Given the description of an element on the screen output the (x, y) to click on. 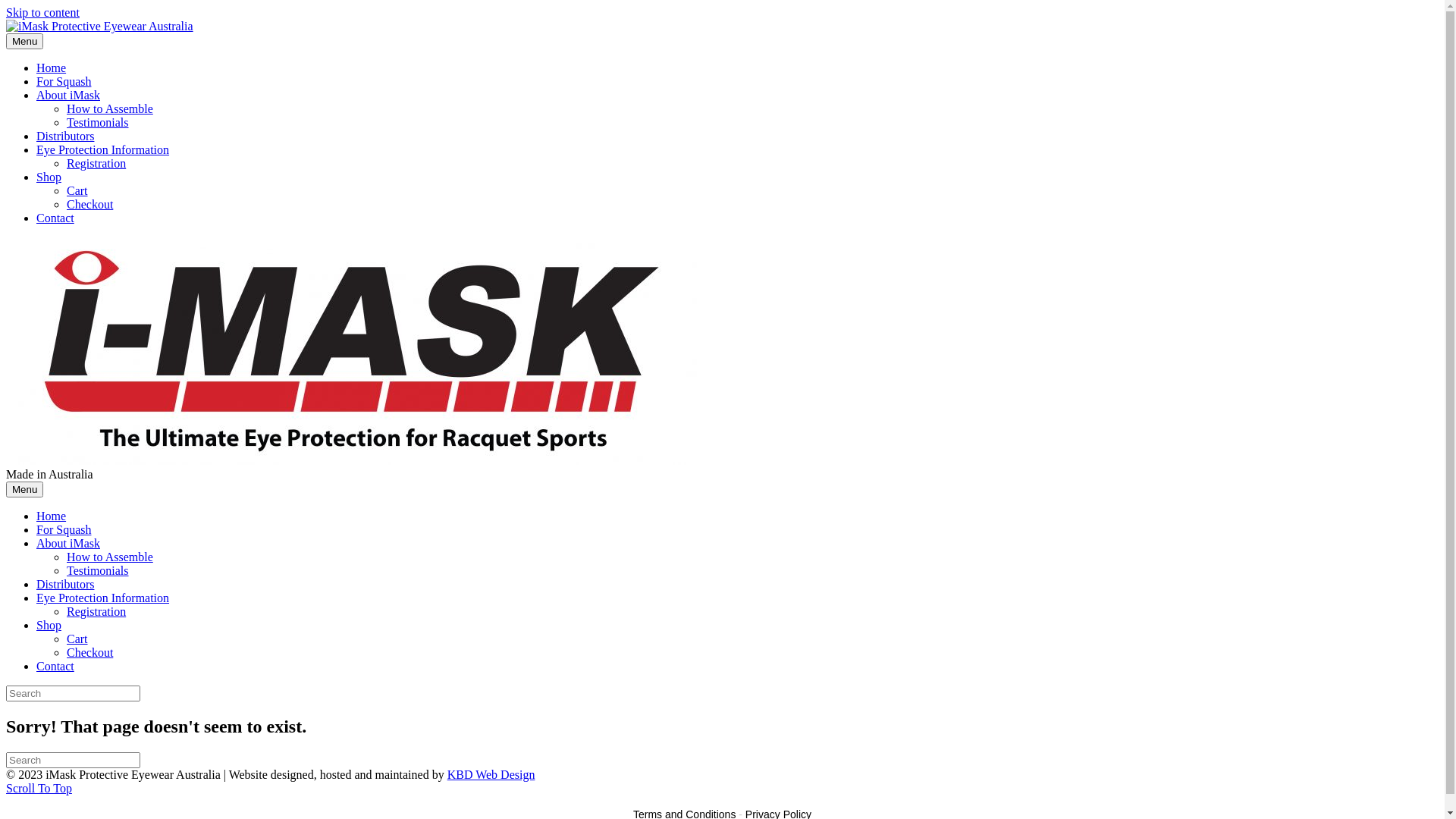
Eye Protection Information Element type: text (102, 597)
Home Element type: text (50, 515)
How to Assemble Element type: text (109, 108)
Checkout Element type: text (89, 652)
Distributors Element type: text (65, 135)
Skip to content Element type: text (42, 12)
About iMask Element type: text (68, 94)
For Squash Element type: text (63, 529)
Scroll To Top Element type: text (39, 787)
Registration Element type: text (95, 611)
Menu Element type: text (24, 41)
Testimonials Element type: text (97, 570)
Contact Element type: text (55, 217)
Menu Element type: text (24, 489)
KBD Web Design Element type: text (491, 774)
How to Assemble Element type: text (109, 556)
Eye Protection Information Element type: text (102, 149)
Shop Element type: text (48, 624)
Checkout Element type: text (89, 203)
Testimonials Element type: text (97, 122)
Shop Element type: text (48, 176)
Registration Element type: text (95, 162)
Cart Element type: text (76, 190)
Type and press Enter to search. Element type: hover (722, 693)
Contact Element type: text (55, 665)
For Squash Element type: text (63, 81)
Home Element type: text (50, 67)
About iMask Element type: text (68, 542)
Distributors Element type: text (65, 583)
Cart Element type: text (76, 638)
Type and press Enter to search. Element type: hover (722, 760)
